Given the description of an element on the screen output the (x, y) to click on. 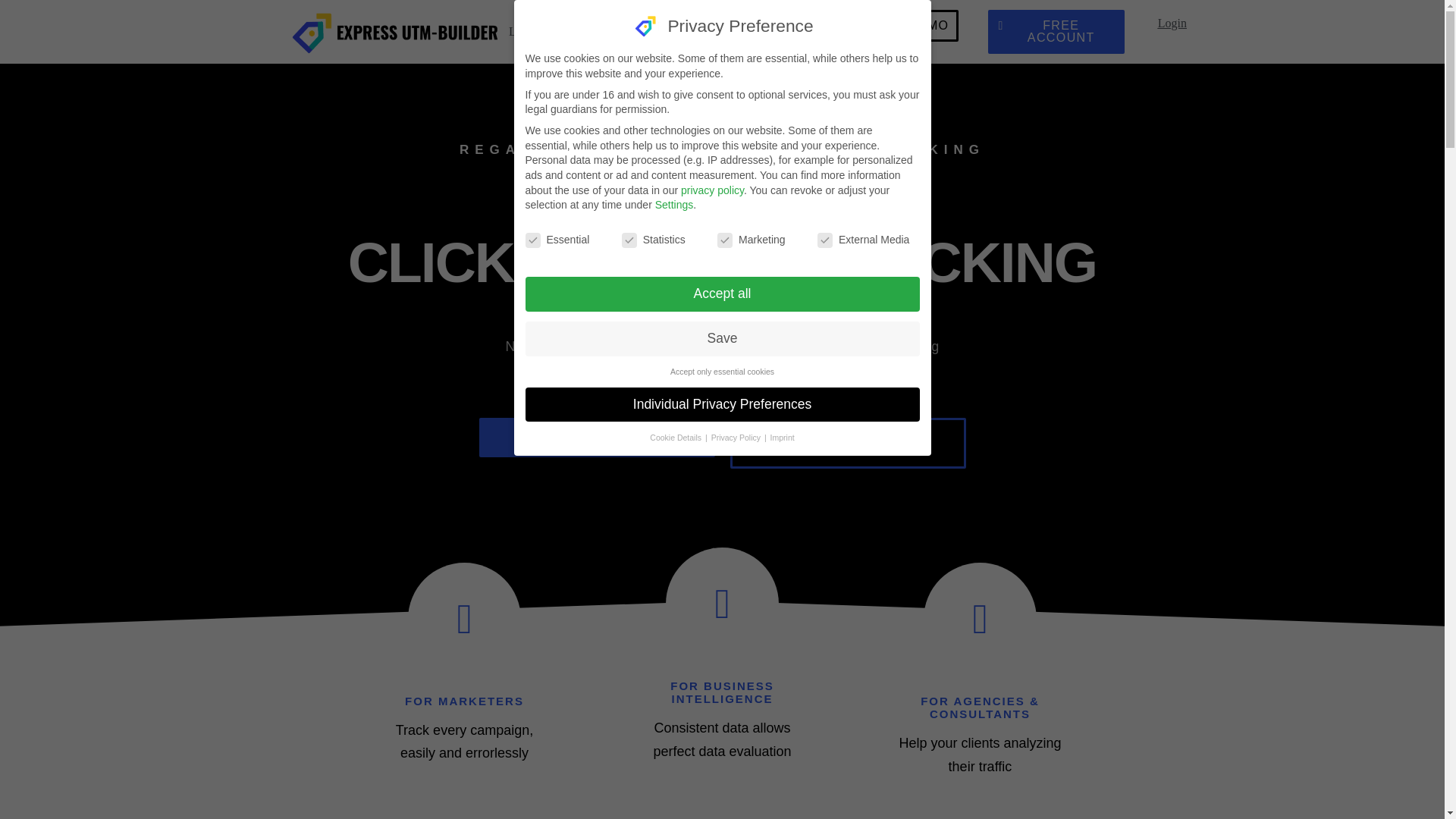
LIVE DEMO (542, 31)
FEATURES (625, 31)
BOOK DEMO (902, 25)
FAQS (760, 31)
PRICING (699, 31)
BLOG (812, 31)
FREE ACCOUNT (1056, 31)
Login (1172, 22)
